Given the description of an element on the screen output the (x, y) to click on. 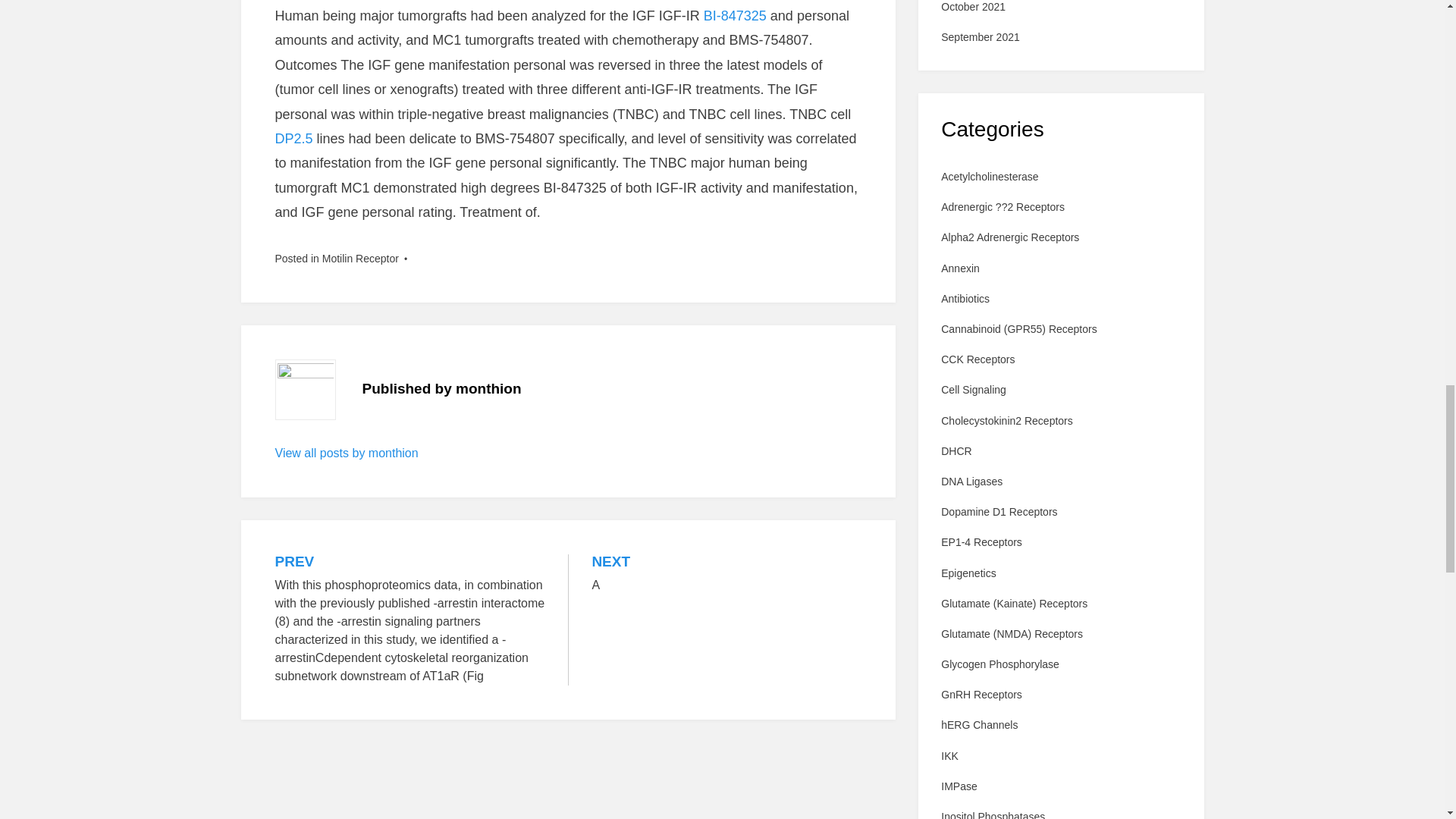
View all posts by monthion (346, 452)
DP2.5 (294, 138)
BI-847325 (735, 15)
Motilin Receptor (359, 258)
